Given the description of an element on the screen output the (x, y) to click on. 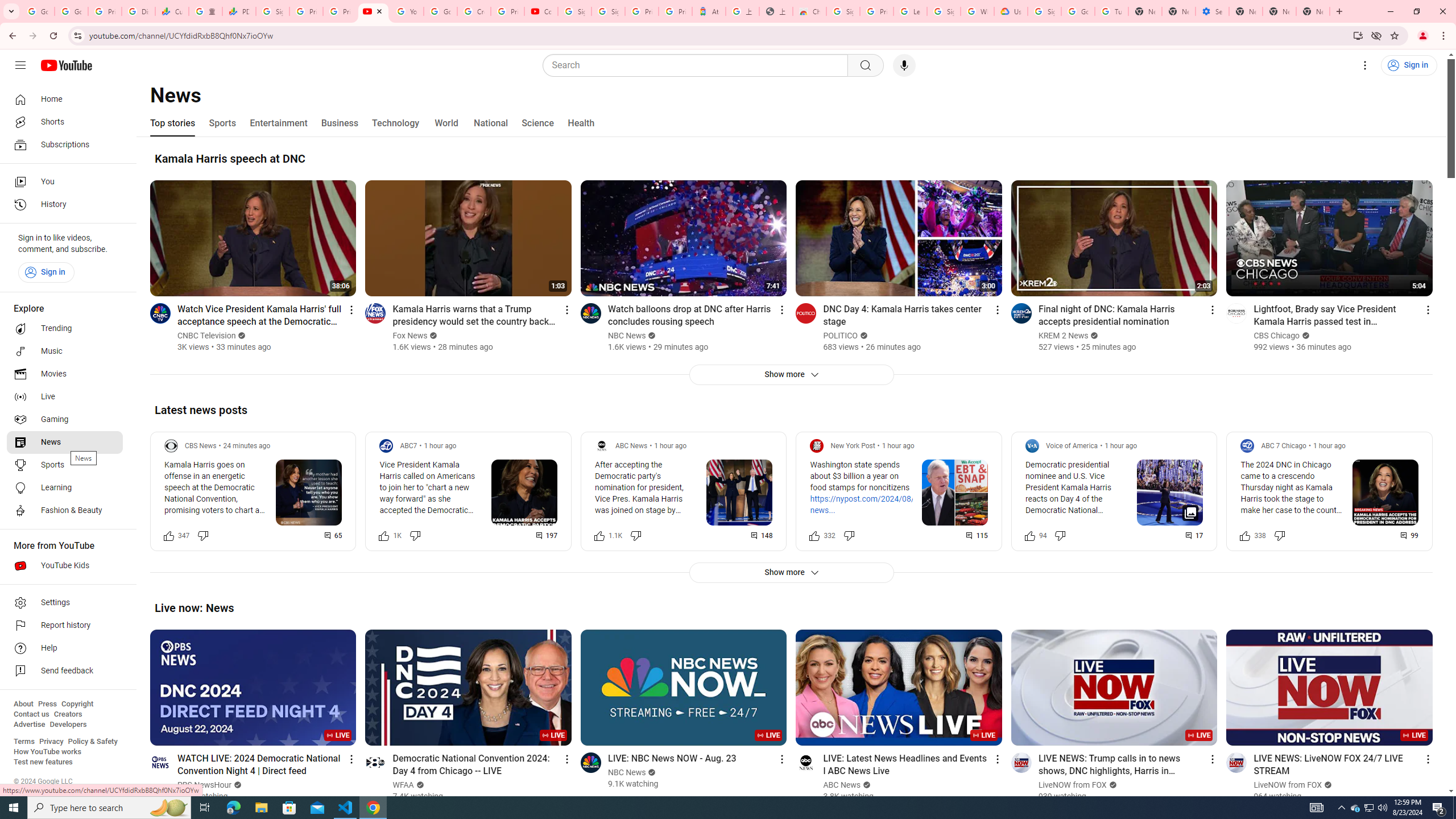
Action menu (1427, 758)
Like this post along with 1,018 other people (383, 534)
ABC7 (408, 445)
Developers (68, 724)
How YouTube works (47, 751)
Contact us (31, 714)
Comment (1409, 534)
Voice of America (1071, 445)
